Given the description of an element on the screen output the (x, y) to click on. 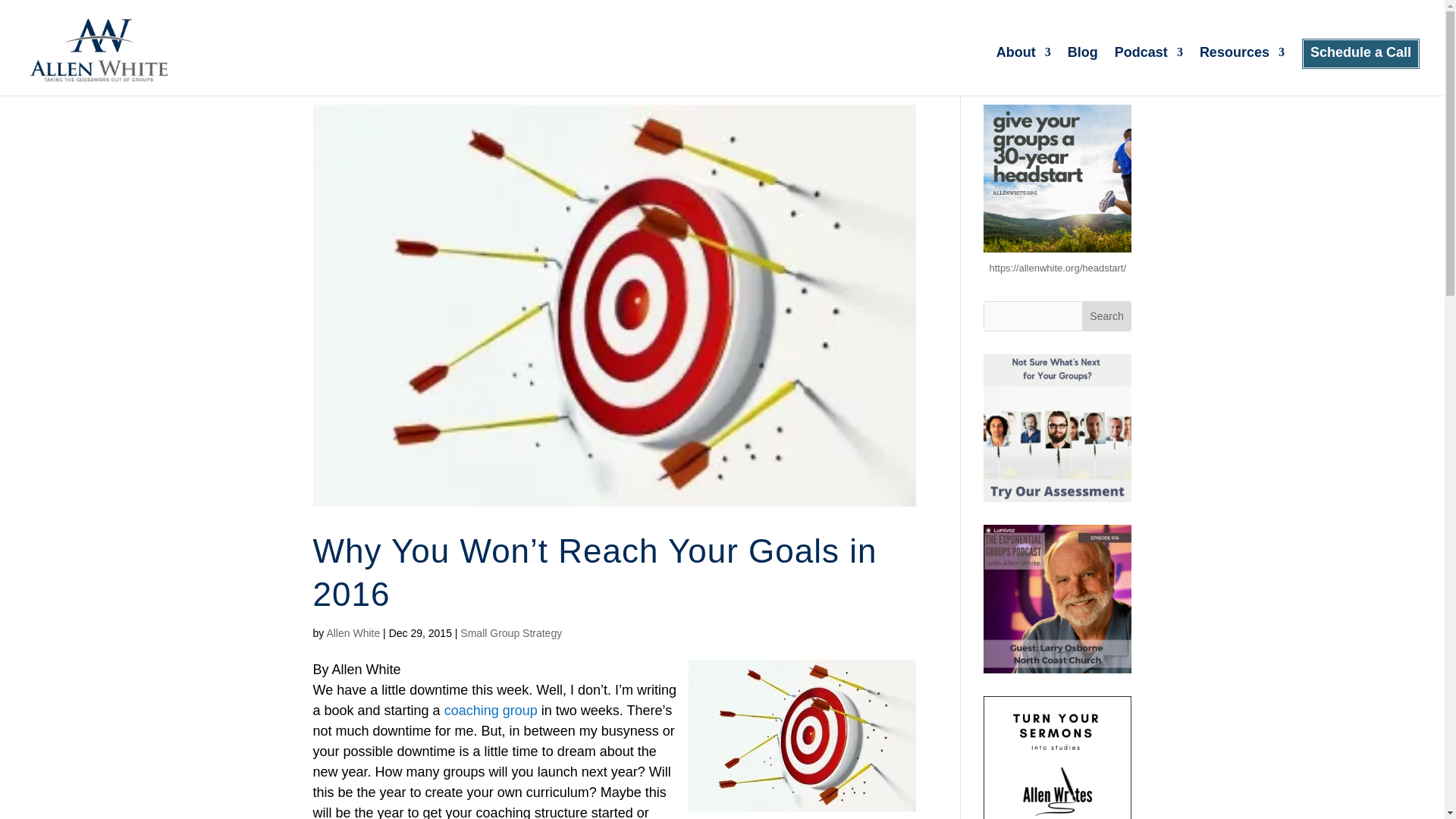
Posts by Allen White (353, 633)
Schedule a Call (1360, 70)
About (1023, 70)
Resources (1241, 70)
Podcast (1148, 70)
